Given the description of an element on the screen output the (x, y) to click on. 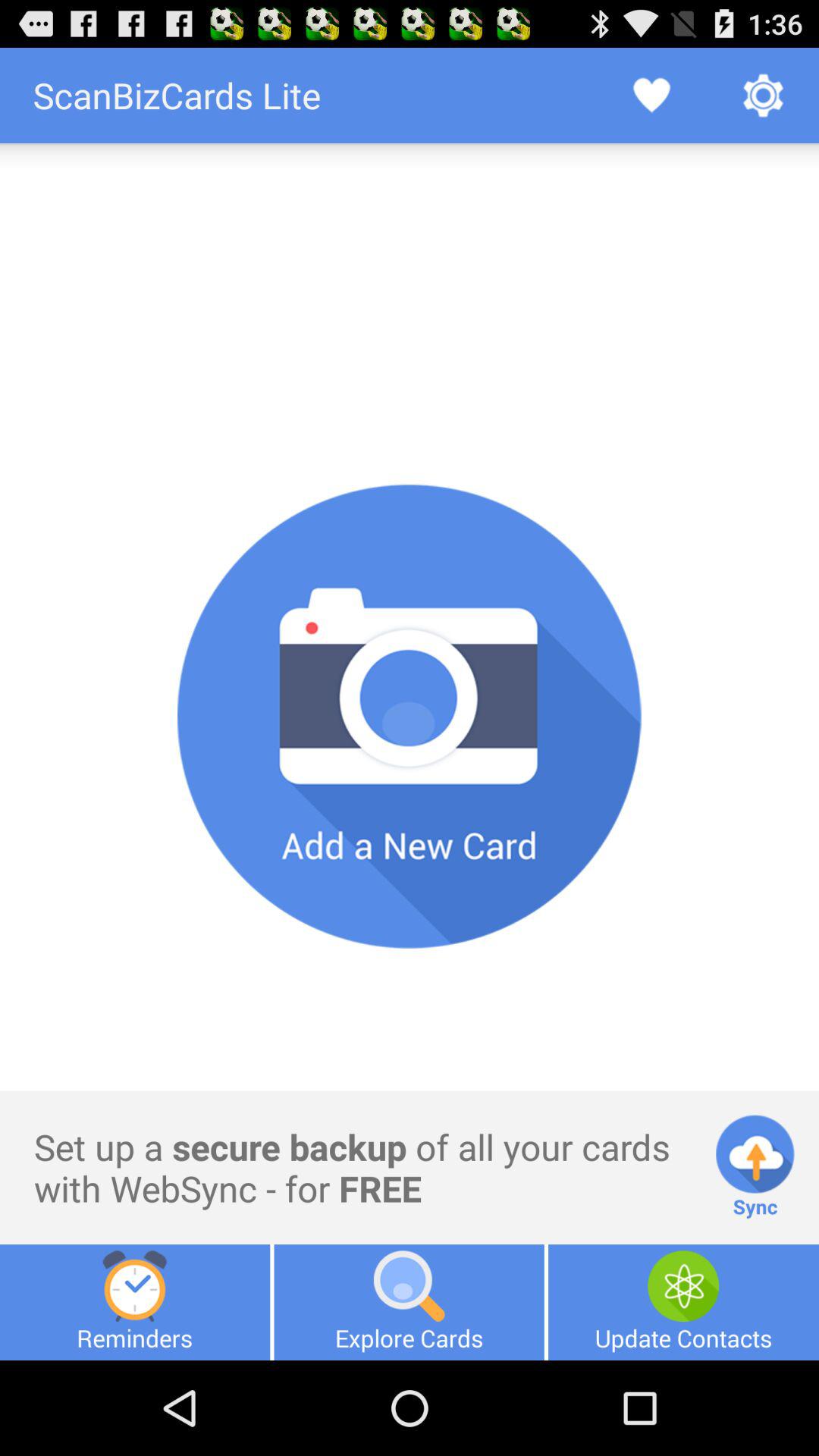
press the button to the right of reminders icon (409, 1302)
